Given the description of an element on the screen output the (x, y) to click on. 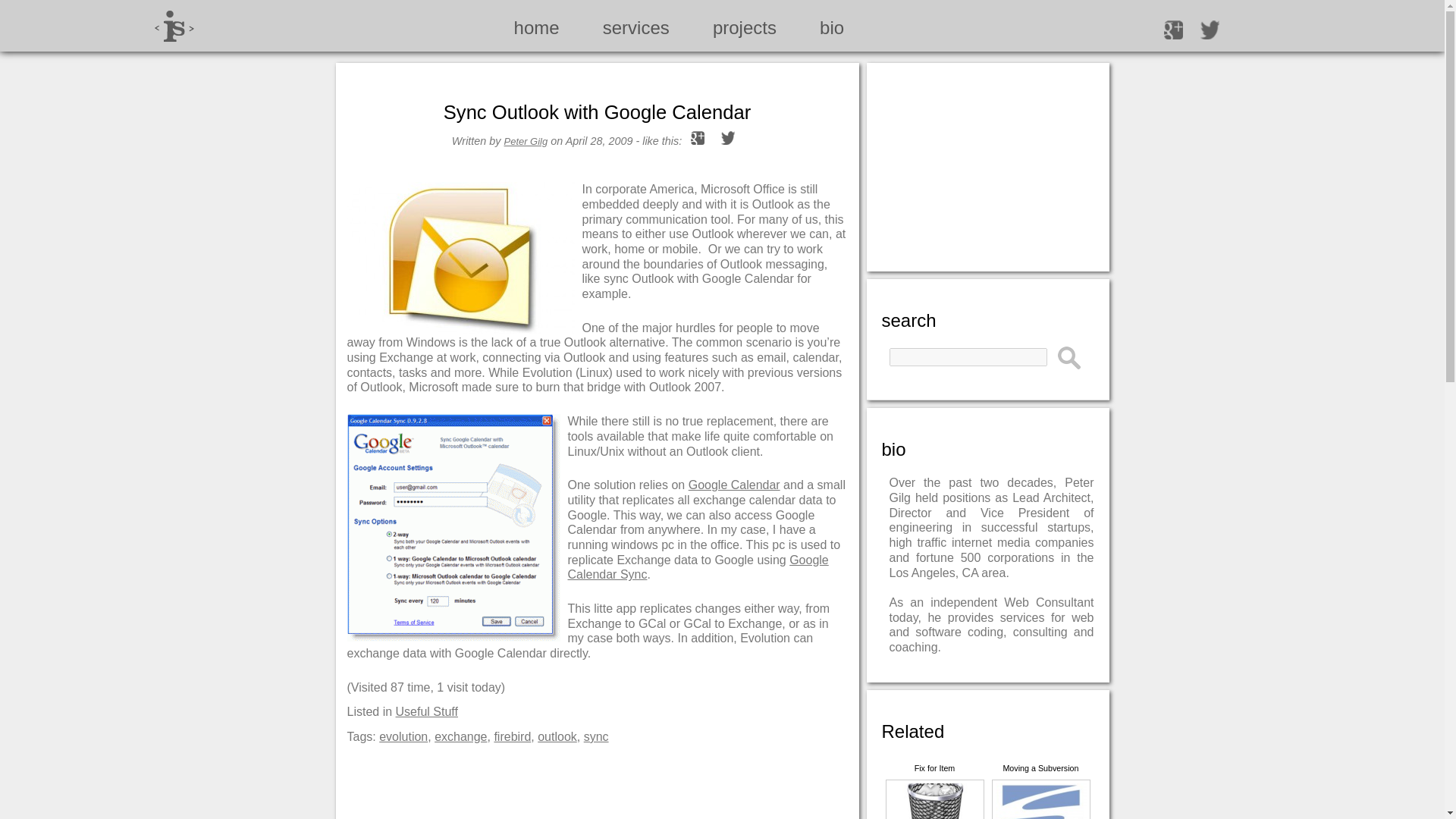
Google Calendar Sync (697, 567)
Google Calendar (734, 484)
firebird (512, 736)
follow me on Twitter (1209, 29)
Moving a Subversion (1040, 791)
Google Calendar (734, 484)
services (635, 27)
Google Calendar Sync (457, 527)
projects (744, 27)
bio (831, 27)
